Given the description of an element on the screen output the (x, y) to click on. 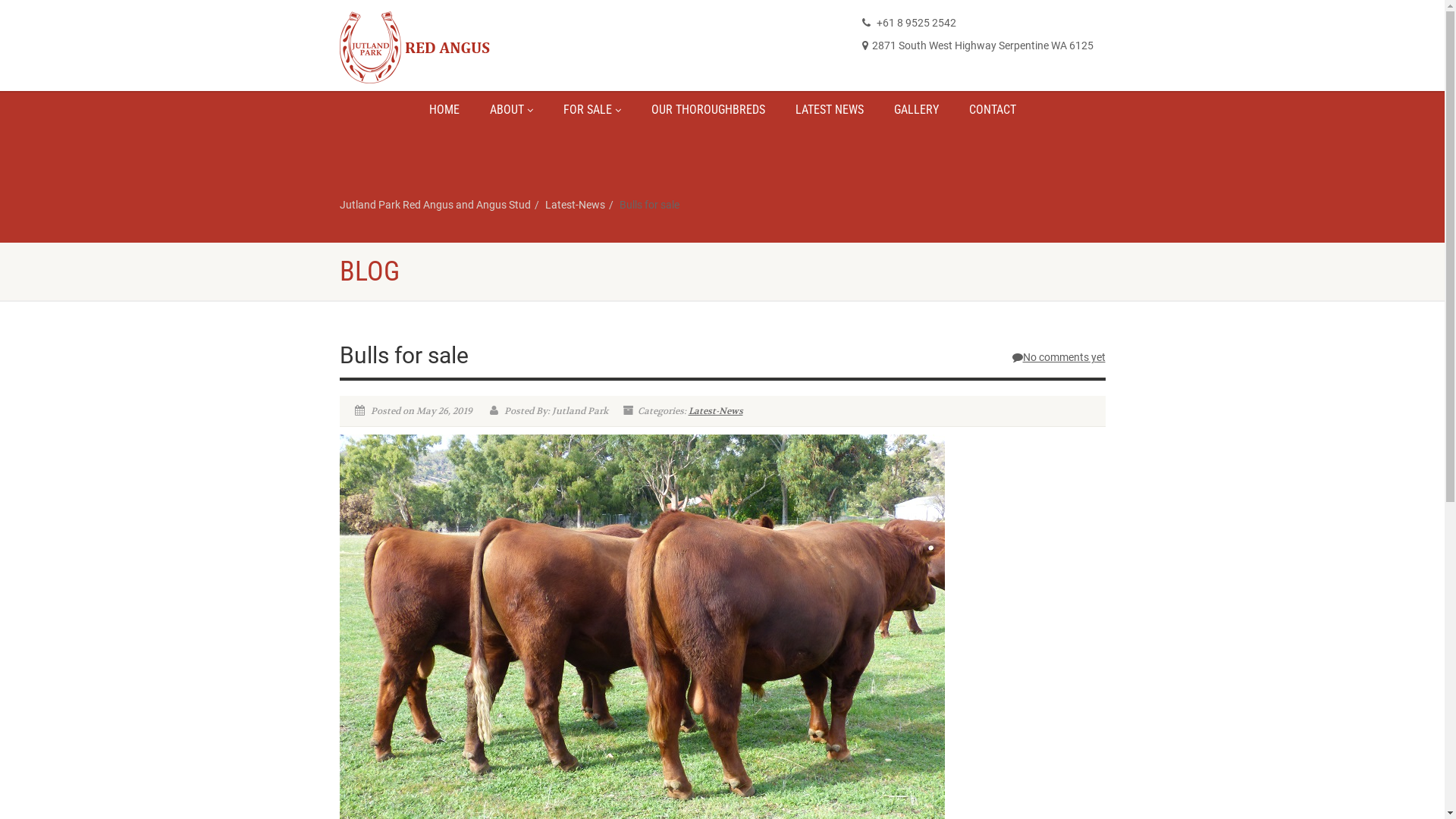
ABOUT Element type: text (511, 109)
LATEST NEWS Element type: text (828, 109)
2871 South West Highway Serpentine WA 6125 Element type: text (977, 45)
CONTACT Element type: text (992, 109)
OUR THOROUGHBREDS Element type: text (707, 109)
No comments yet Element type: text (1057, 357)
GALLERY Element type: text (915, 109)
Latest-News Element type: text (574, 204)
FOR SALE Element type: text (591, 109)
Jutland Park Red Angus and Angus Stud Element type: text (434, 204)
+61 8 9525 2542 Element type: text (909, 22)
Latest-News Element type: text (715, 410)
Logo Element type: hover (459, 47)
HOME Element type: text (444, 109)
